Given the description of an element on the screen output the (x, y) to click on. 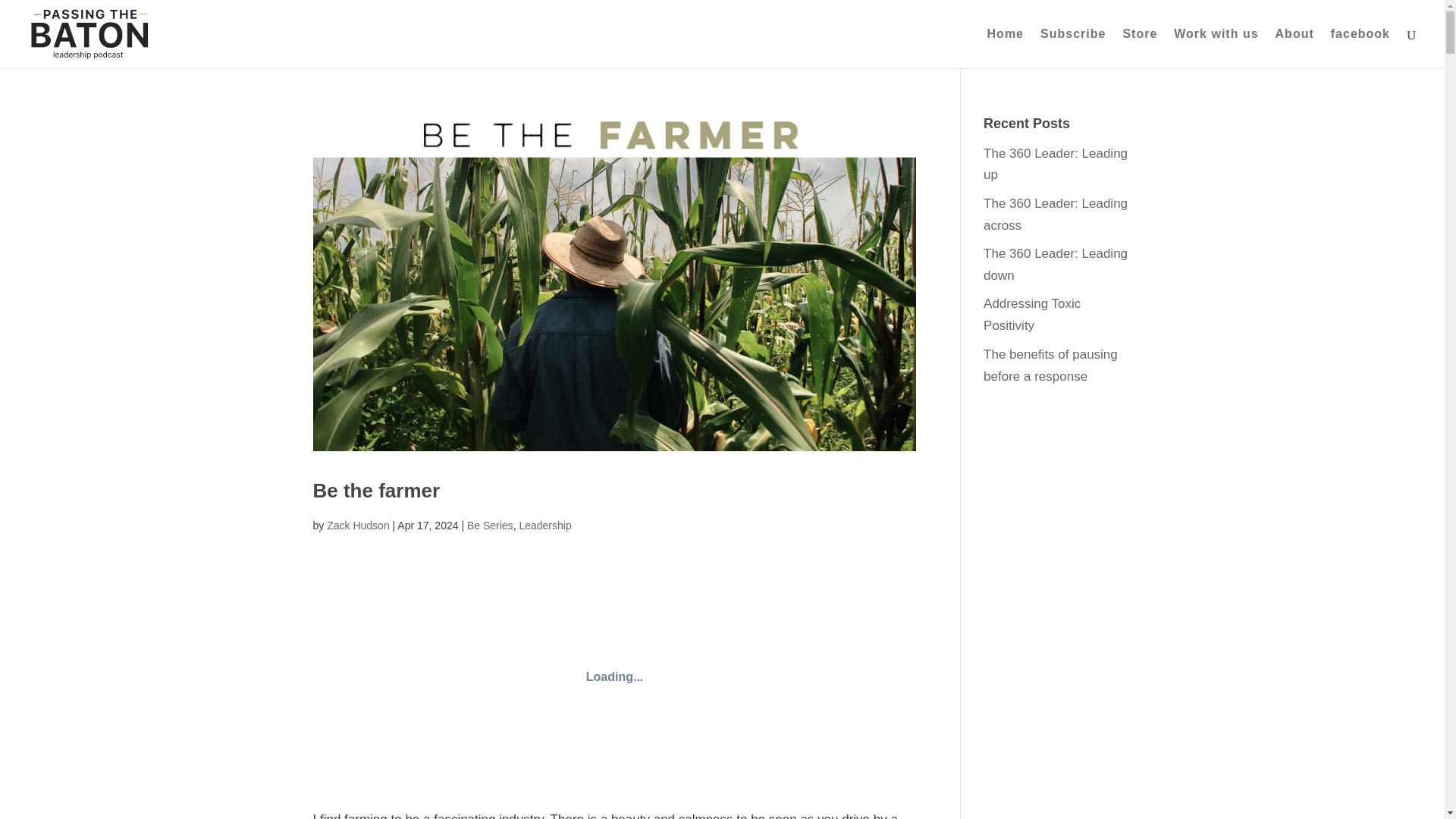
Leadership (544, 525)
About (1294, 47)
Zack Hudson (357, 525)
Posts by Zack Hudson (357, 525)
Work with us (1215, 47)
facebook (1360, 47)
Be Series (490, 525)
Subscribe (1073, 47)
Home (1005, 47)
Be the farmer (376, 490)
Embed Player (614, 676)
